Given the description of an element on the screen output the (x, y) to click on. 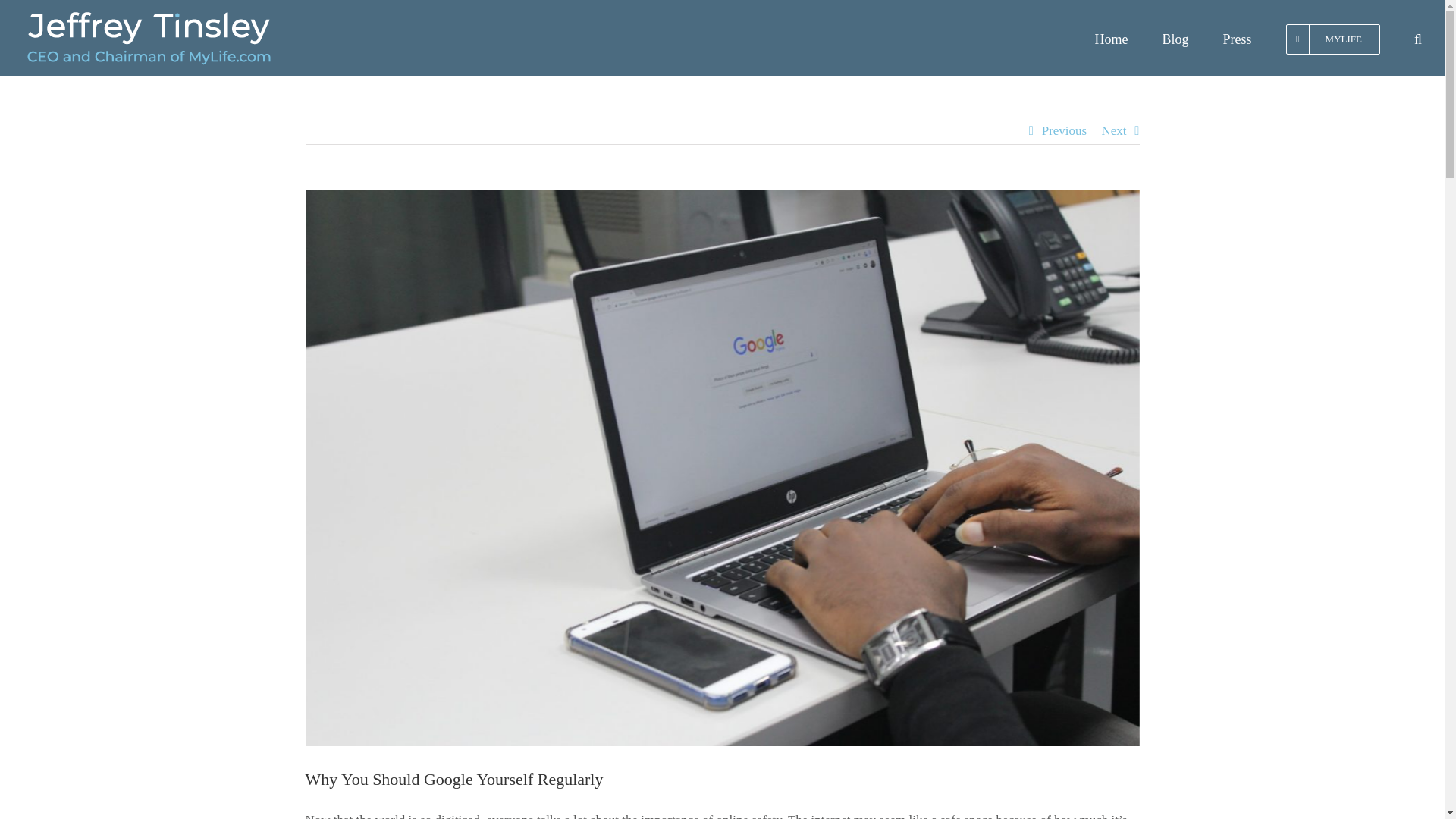
MYLIFE (1332, 38)
Previous (1064, 130)
Next (1112, 130)
